Given the description of an element on the screen output the (x, y) to click on. 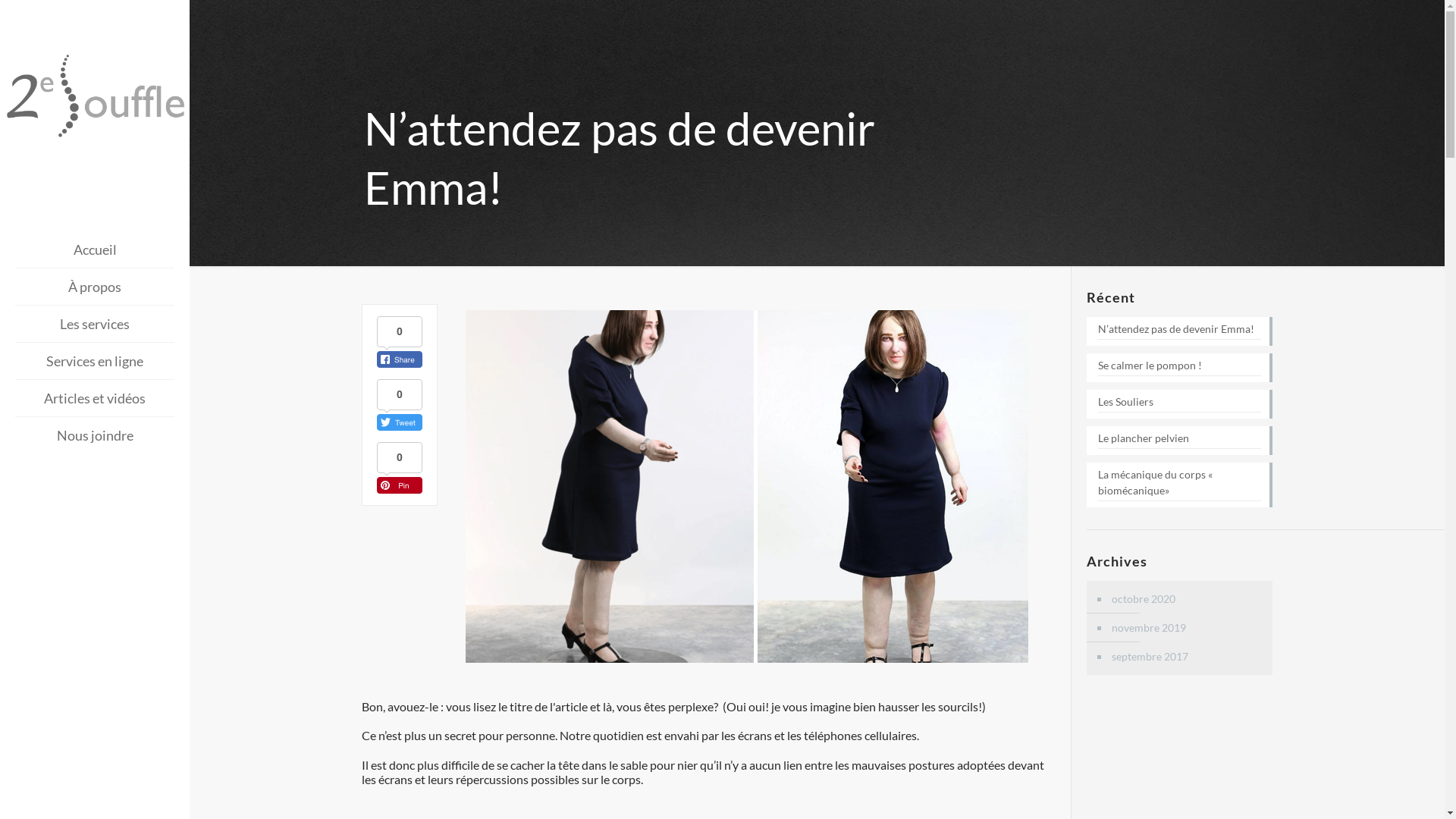
novembre 2019 Element type: text (1186, 627)
2e Souffle Element type: hover (94, 96)
Les Souliers Element type: text (1179, 402)
octobre 2020 Element type: text (1186, 598)
Accueil Element type: text (94, 249)
Le plancher pelvien Element type: text (1179, 438)
Services en ligne Element type: text (94, 360)
Se calmer le pompon ! Element type: text (1179, 366)
septembre 2017 Element type: text (1186, 656)
Nous joindre Element type: text (94, 435)
Les services Element type: text (94, 323)
